Given the description of an element on the screen output the (x, y) to click on. 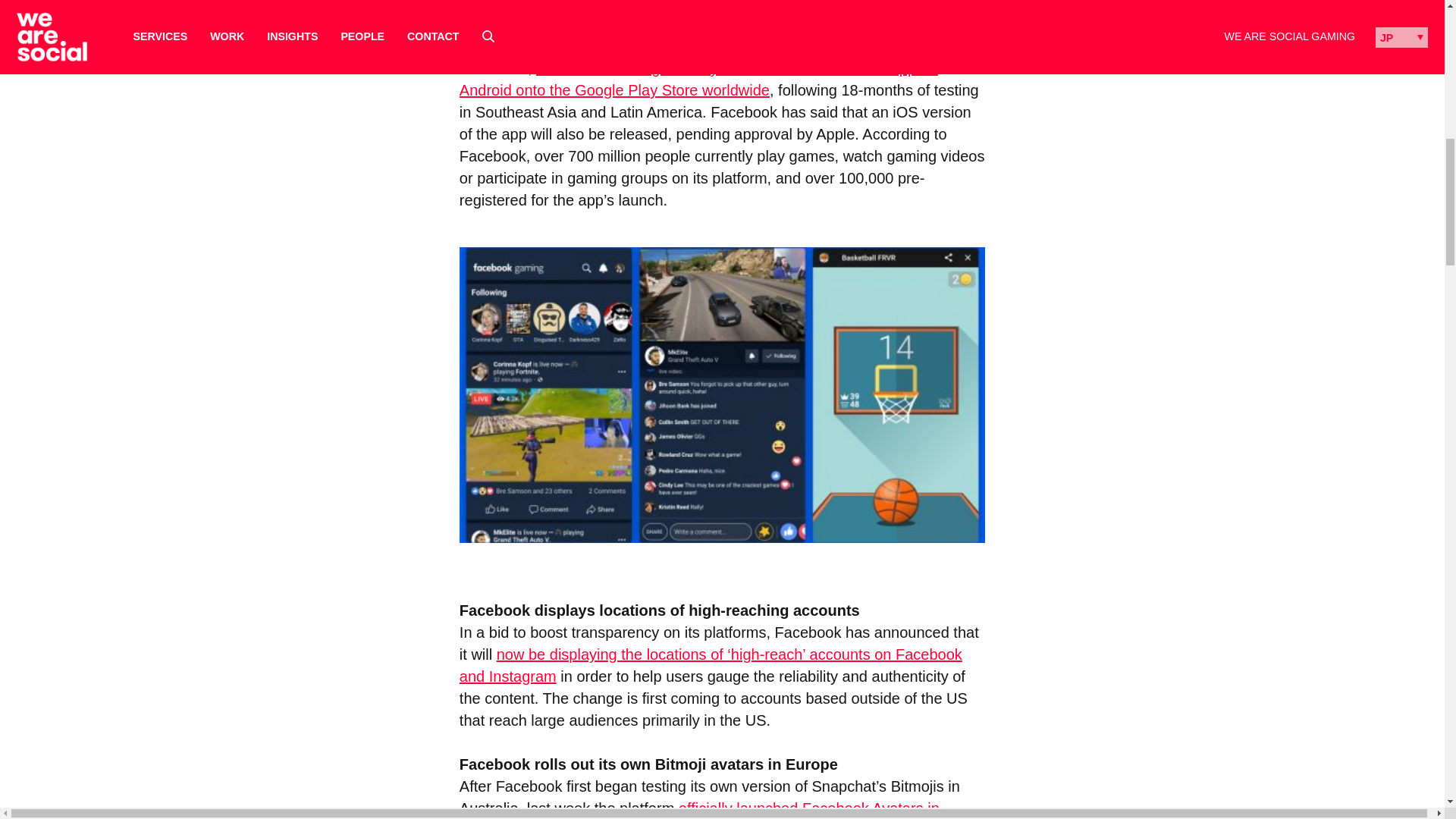
officially launched Facebook Avatars in Europe (699, 809)
